Given the description of an element on the screen output the (x, y) to click on. 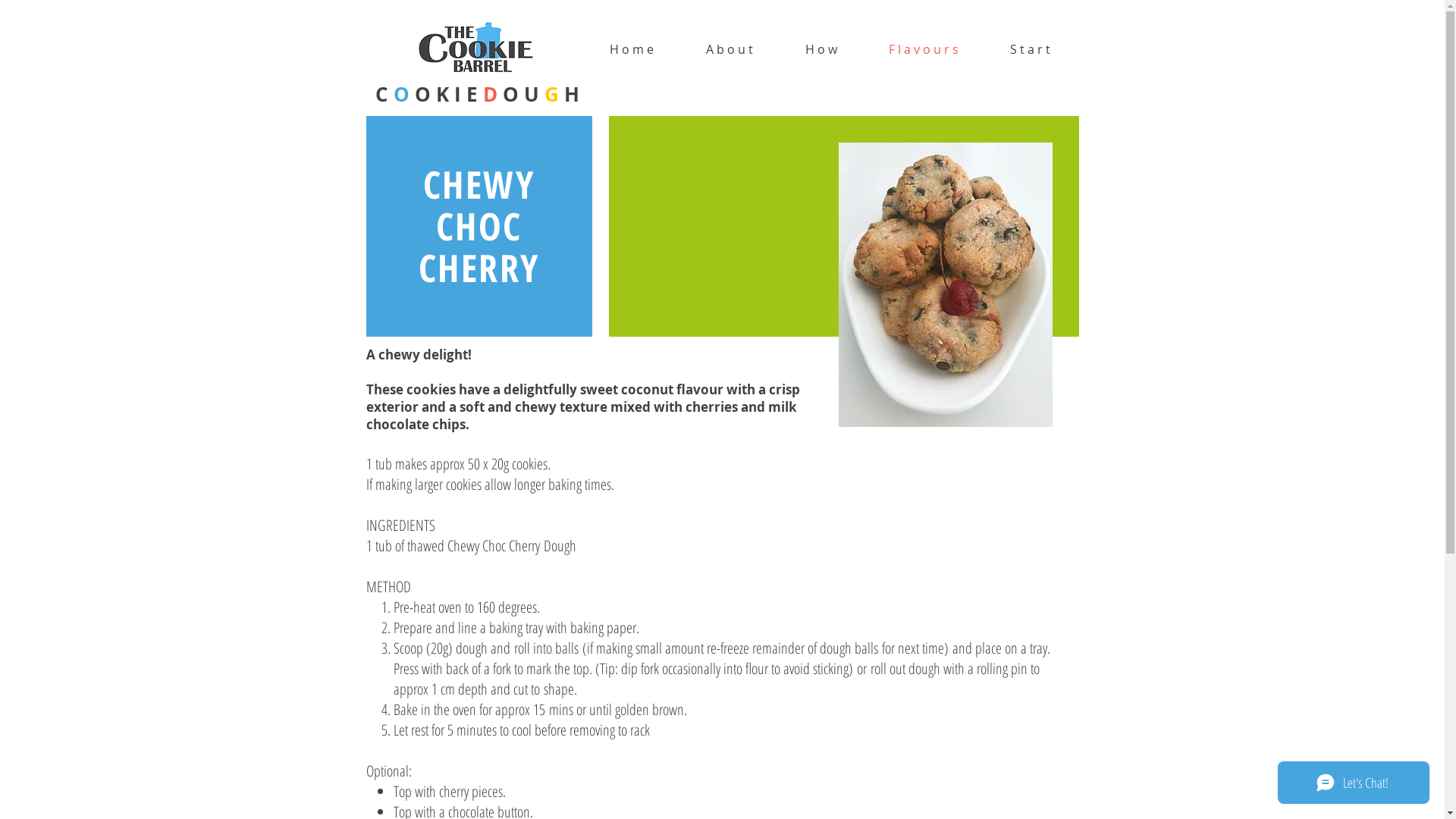
H o w Element type: text (820, 49)
C O O K I E D O U G H Element type: text (476, 93)
A b o u t Element type: text (728, 49)
H o m e Element type: text (631, 49)
F l a v o u r s Element type: text (923, 49)
S t a r t Element type: text (1030, 49)
